Given the description of an element on the screen output the (x, y) to click on. 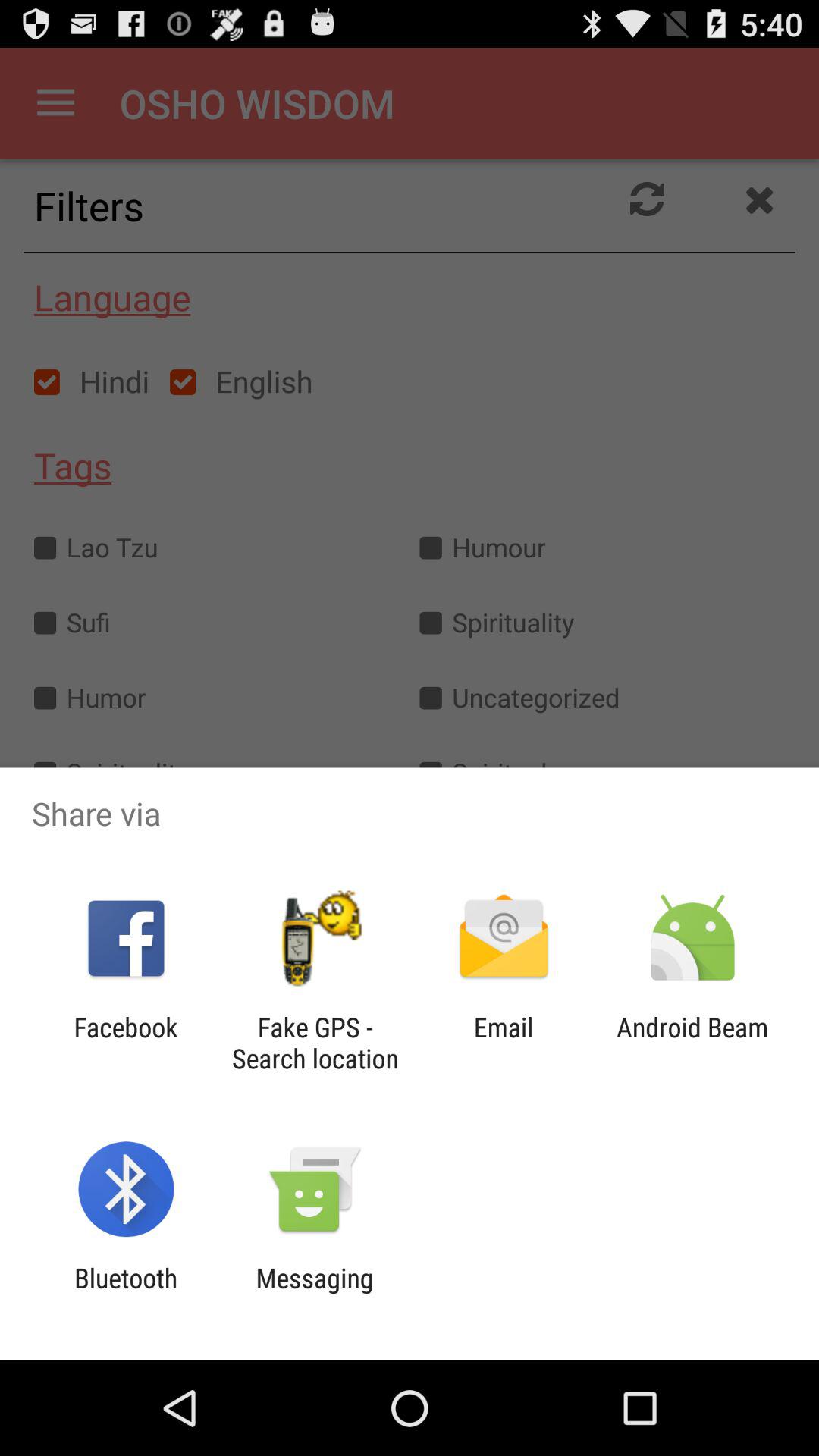
jump until the bluetooth (125, 1293)
